Given the description of an element on the screen output the (x, y) to click on. 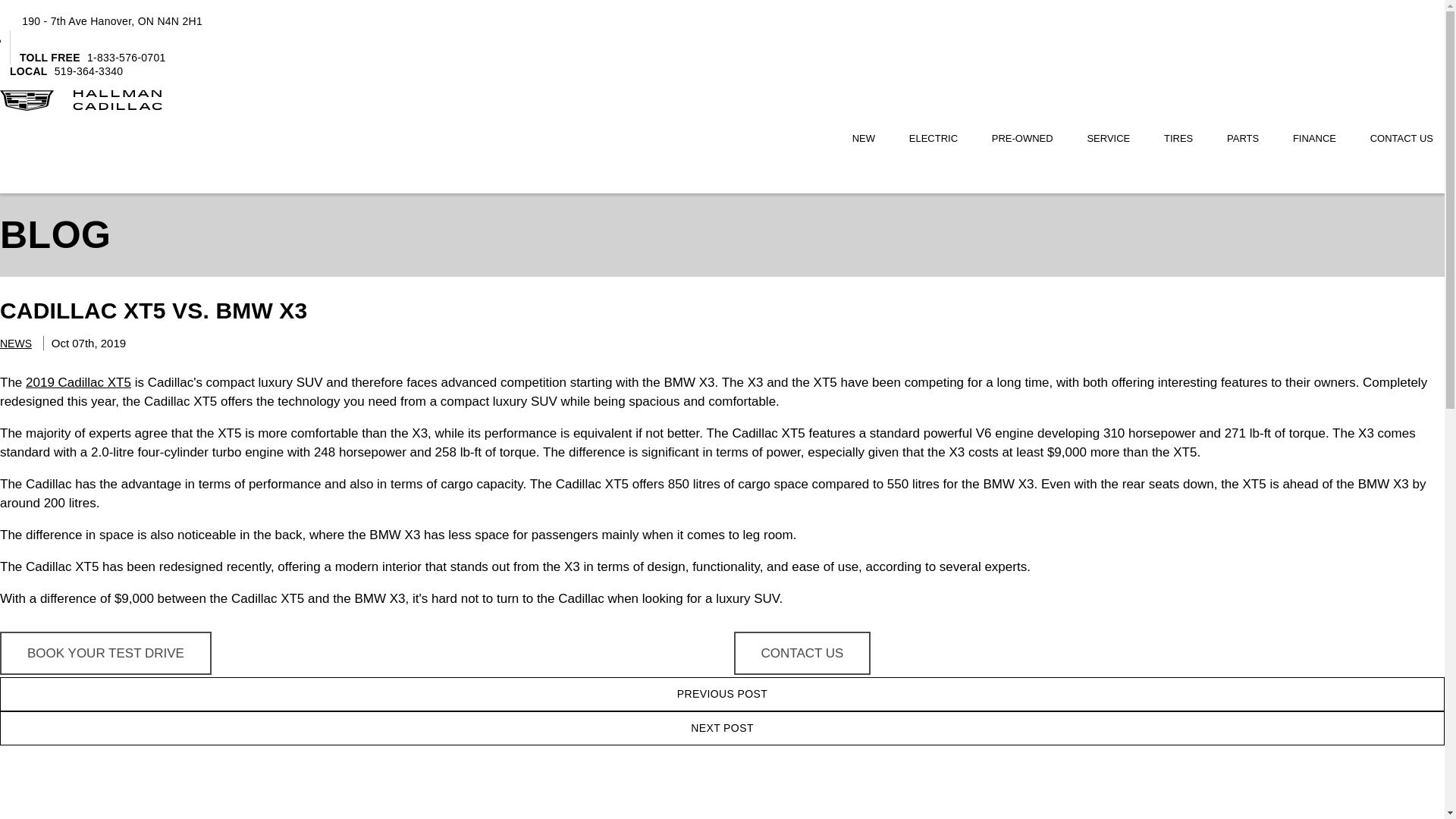
PRE-OWNED (1027, 139)
ELECTRIC (938, 139)
SERVICE (1113, 139)
2019 Cadillac XT5 (78, 382)
FINANCE (101, 21)
LOCAL 519-364-3340 (1320, 139)
